Given the description of an element on the screen output the (x, y) to click on. 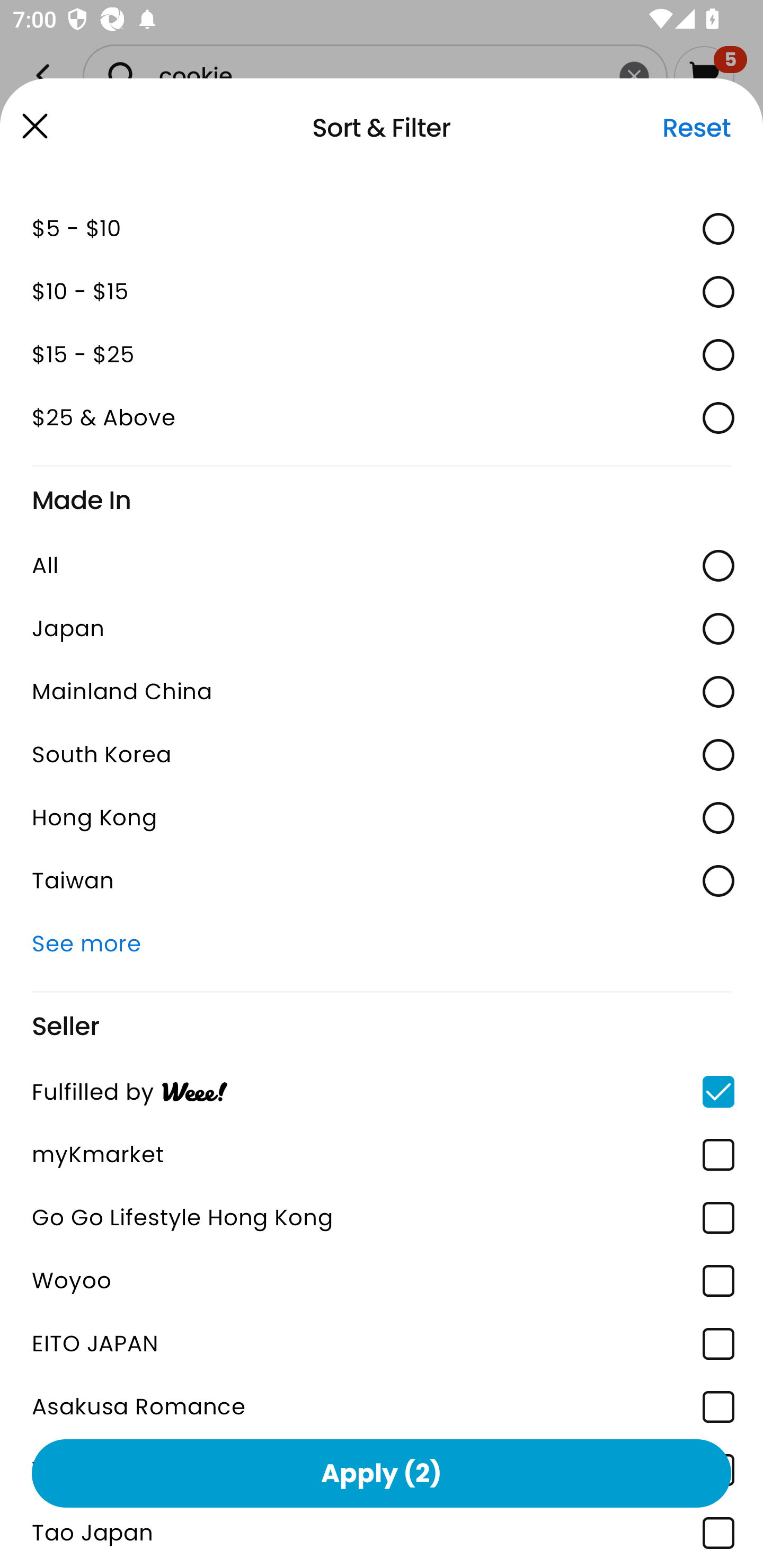
Reset (696, 127)
See more (381, 943)
Apply (2) (381, 1472)
